Given the description of an element on the screen output the (x, y) to click on. 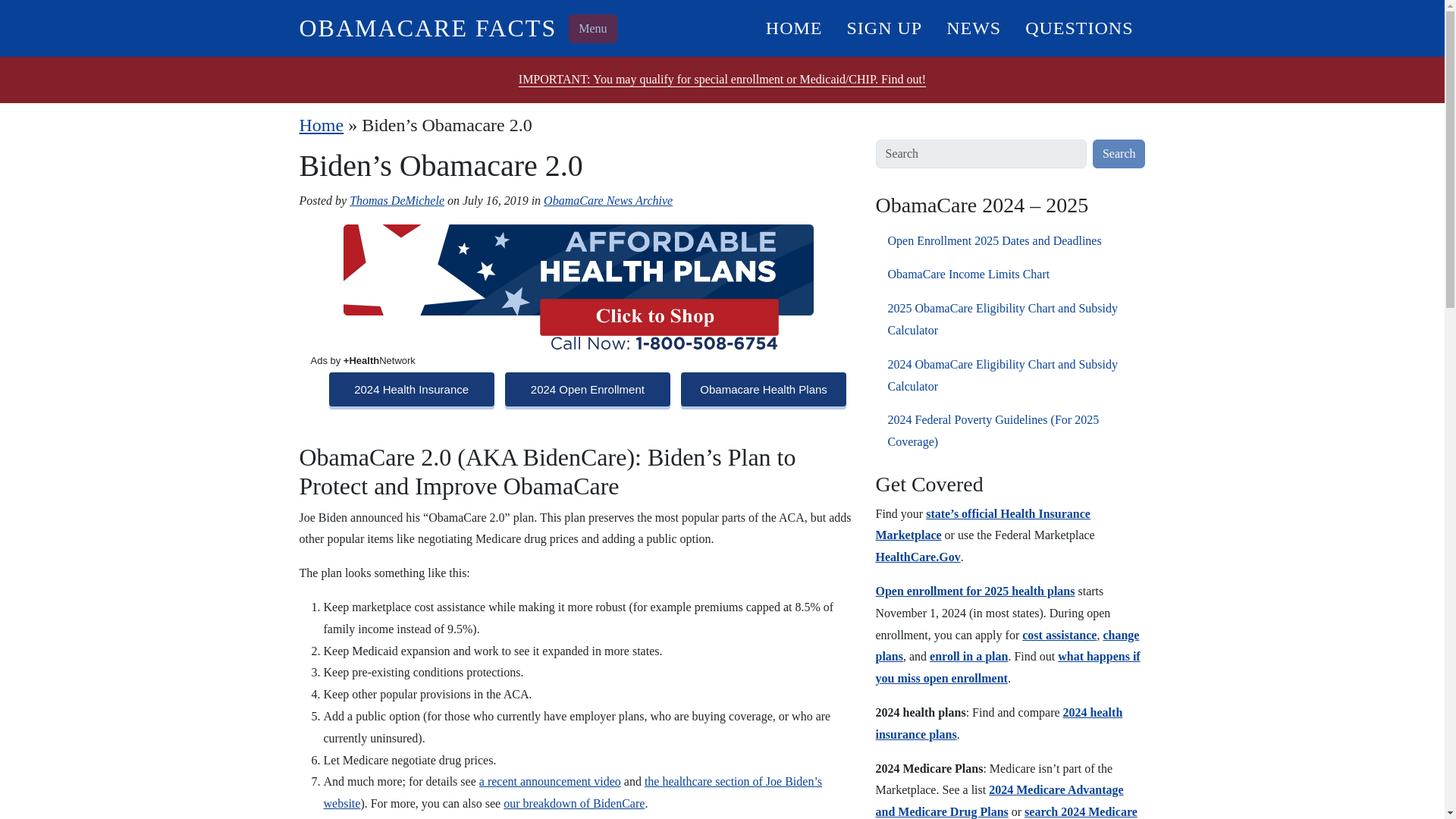
2024 health insurance plans (998, 723)
OBAMACARE FACTS (427, 28)
Posts by Thomas DeMichele (396, 200)
Change Obamacare plans (1006, 645)
HOME (794, 27)
NEWS (973, 27)
Open enrollment for 2025 health plans (974, 590)
Menu (592, 28)
2024 Medicare Advantage and Medicare Drug Plans (998, 800)
What happens if you miss open enrollment (1007, 667)
QUESTIONS (1078, 27)
Federal HealthCare.Gov (917, 556)
SIGN UP (884, 27)
Obamacare cost assistance (1059, 634)
